Given the description of an element on the screen output the (x, y) to click on. 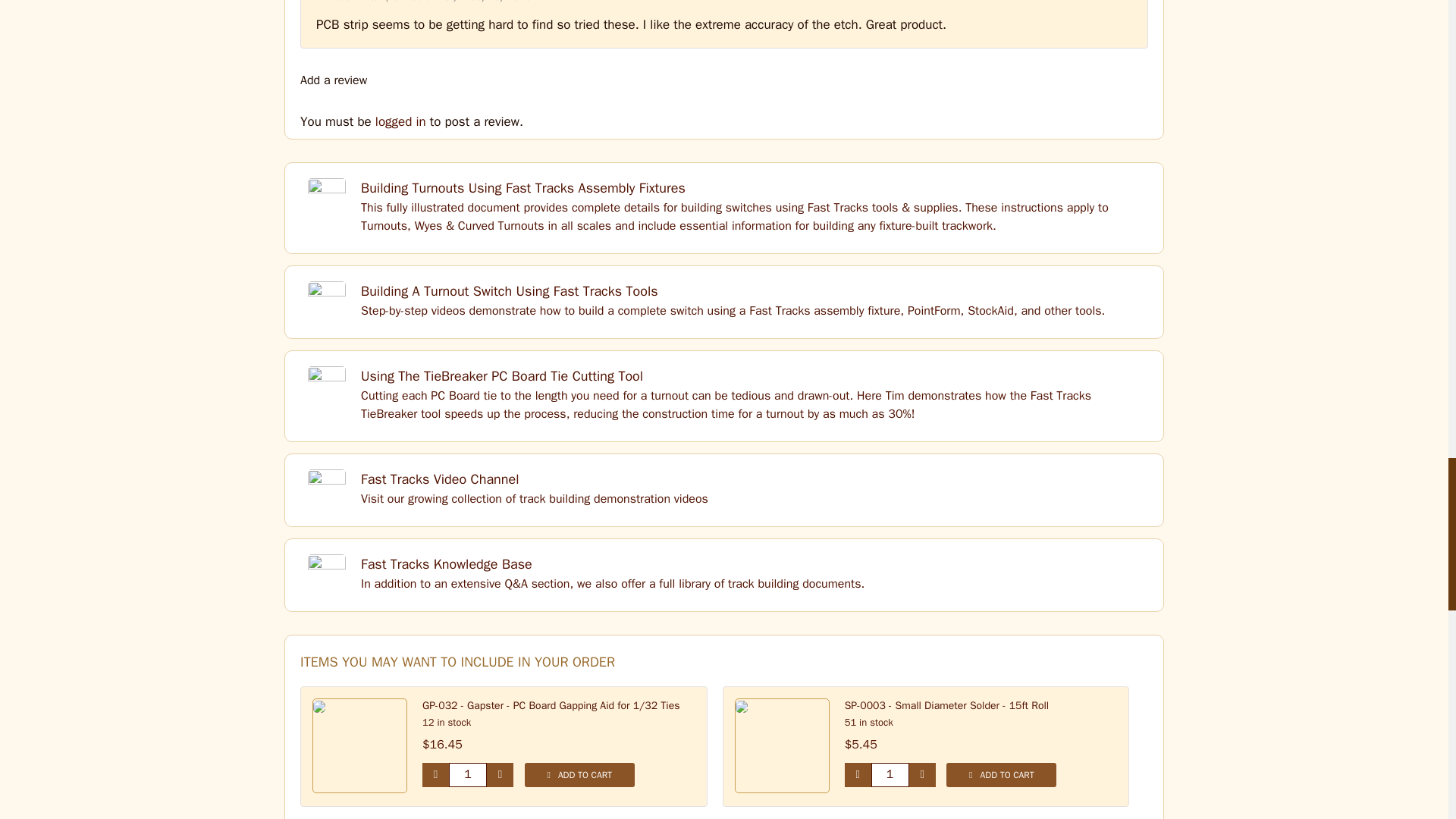
1 (467, 774)
Rated 5 out of 5 (1097, 0)
Qty (889, 774)
logged in (400, 121)
Qty (467, 774)
1 (889, 774)
